Given the description of an element on the screen output the (x, y) to click on. 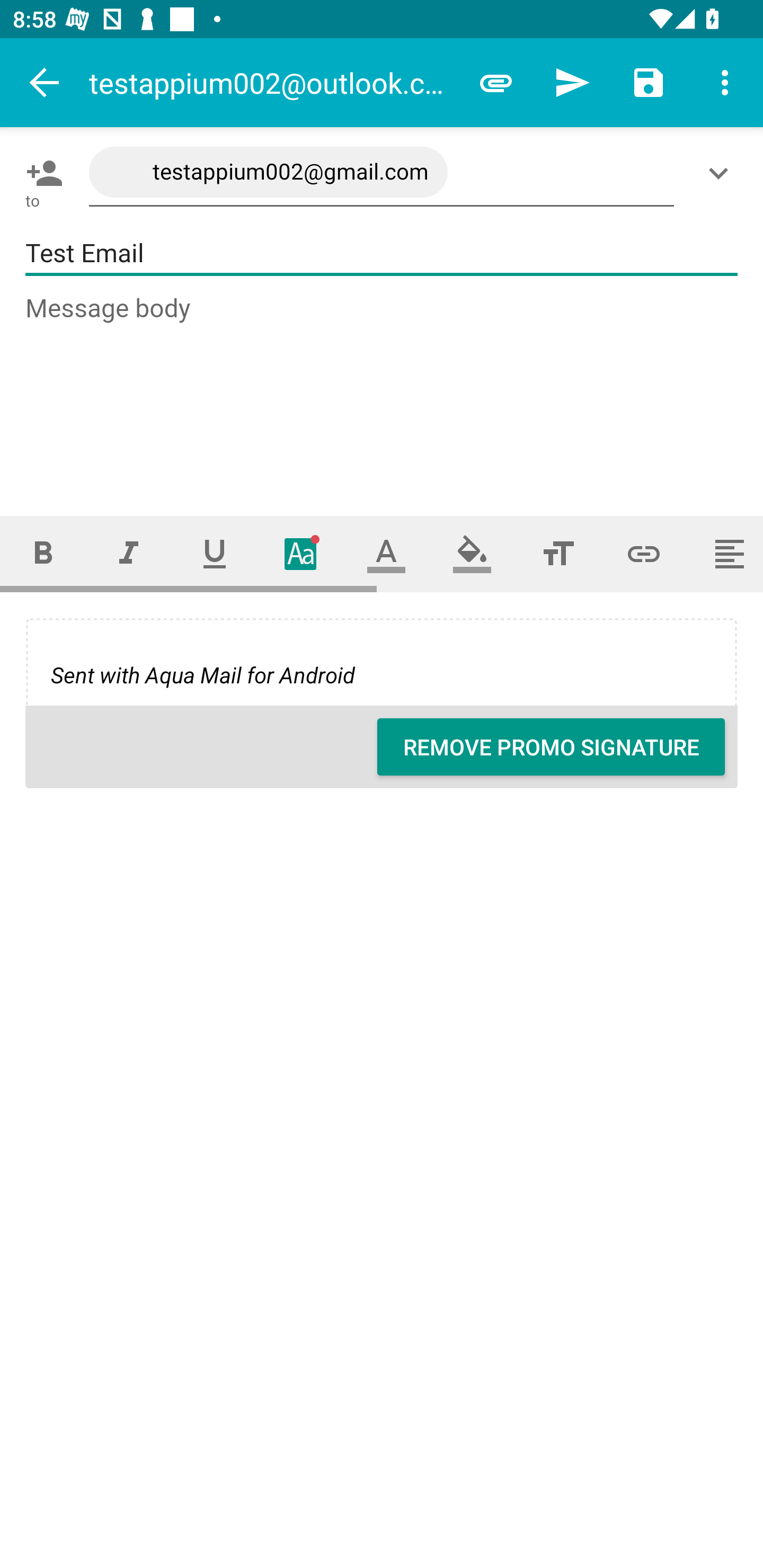
Navigate up (44, 82)
testappium002@outlook.com (273, 82)
Attach (495, 82)
Send (572, 82)
Save (648, 82)
More options (724, 81)
testappium002@gmail.com,  (381, 173)
Pick contact: To (41, 172)
Show/Add CC/BCC (721, 172)
Test Email (381, 252)
Message body (381, 388)
Bold (42, 553)
Italic (128, 553)
Underline (214, 553)
Typeface (font) (300, 553)
Text color (385, 553)
Fill color (471, 553)
Font size (558, 553)
Set link (643, 553)
Align left (724, 553)
REMOVE PROMO SIGNATURE (550, 747)
